Given the description of an element on the screen output the (x, y) to click on. 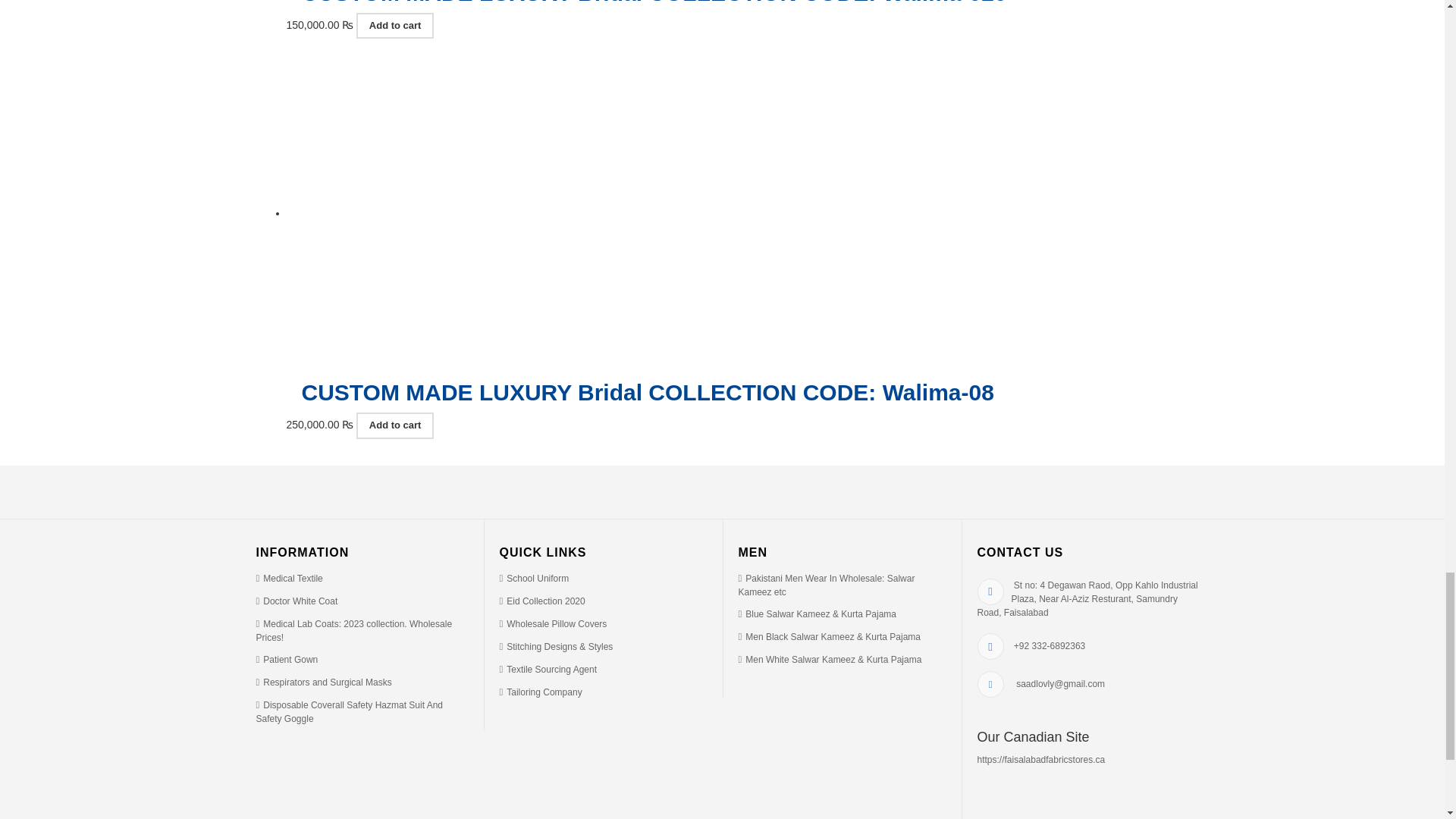
How to buy (287, 659)
How to buy (289, 578)
How to buy (350, 711)
How to buy (323, 682)
How to buy (534, 578)
How to buy (542, 601)
How to buy (553, 624)
How to buy (296, 601)
How to buy (354, 630)
